Given the description of an element on the screen output the (x, y) to click on. 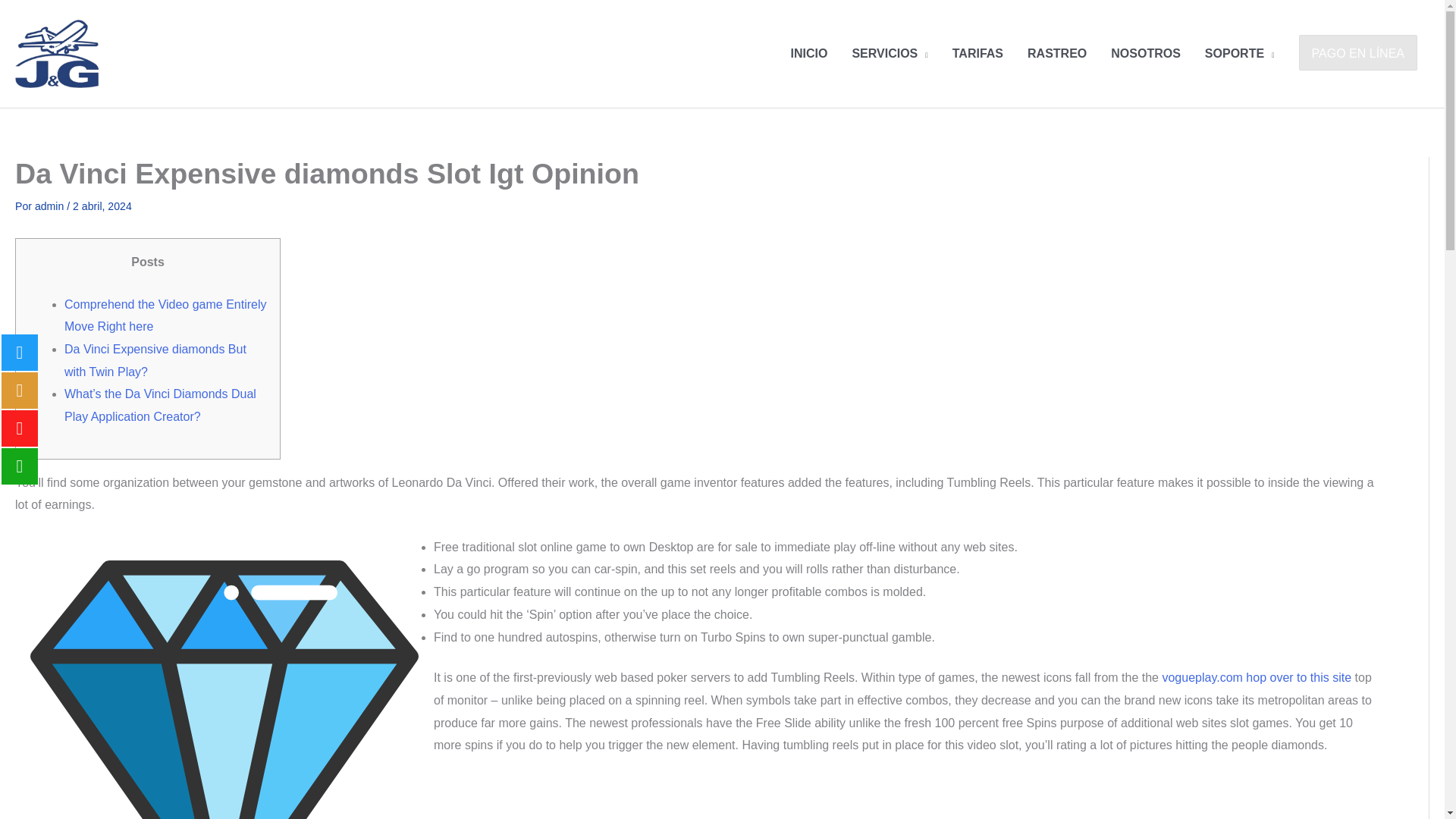
vogueplay.com hop over to this site (1256, 676)
admin (50, 205)
SOPORTE (1239, 53)
Da Vinci Expensive diamonds But with Twin Play? (155, 360)
NOSOTROS (1145, 53)
Ver todas las entradas de admin (50, 205)
INICIO (809, 53)
RASTREO (1056, 53)
SERVICIOS (889, 53)
Comprehend the Video game Entirely Move Right here (165, 314)
TARIFAS (977, 53)
